Given the description of an element on the screen output the (x, y) to click on. 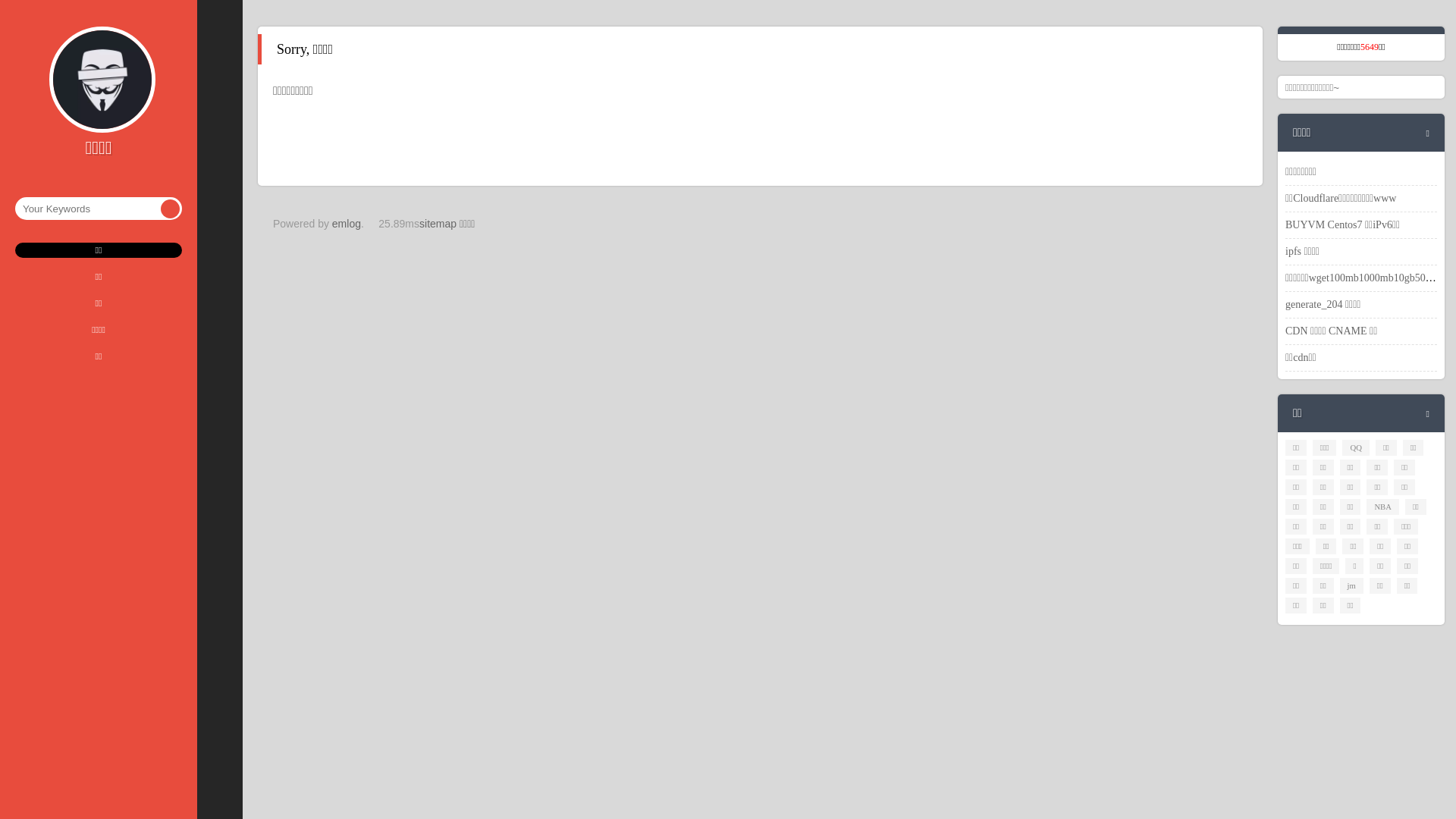
sitemap Element type: text (437, 223)
QQ Element type: text (1355, 447)
jm Element type: text (1351, 585)
emlog Element type: text (346, 223)
SS(0) Element type: text (158, 259)
NBA Element type: text (1382, 506)
